Given the description of an element on the screen output the (x, y) to click on. 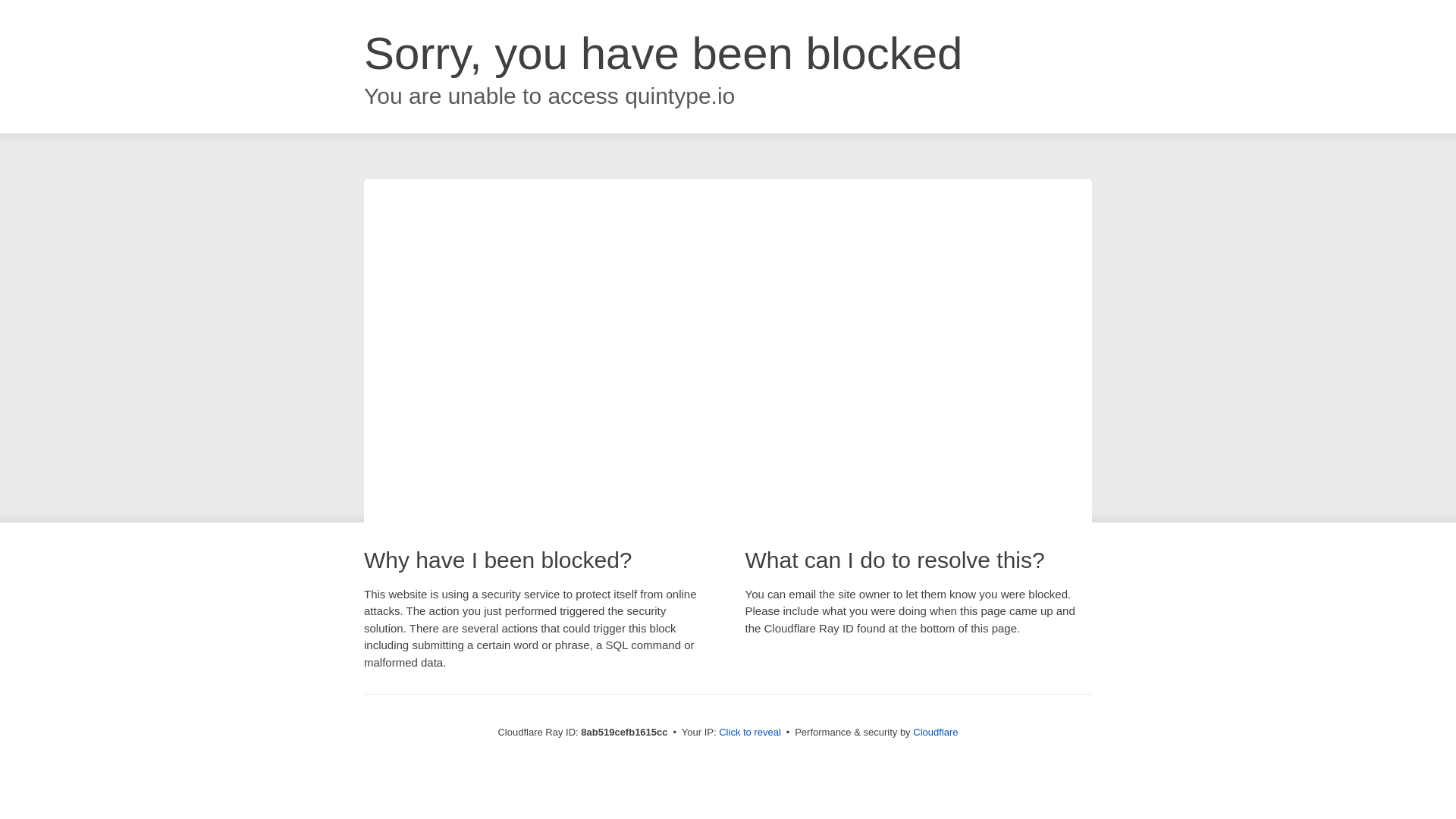
Cloudflare (935, 731)
Click to reveal (749, 732)
